Given the description of an element on the screen output the (x, y) to click on. 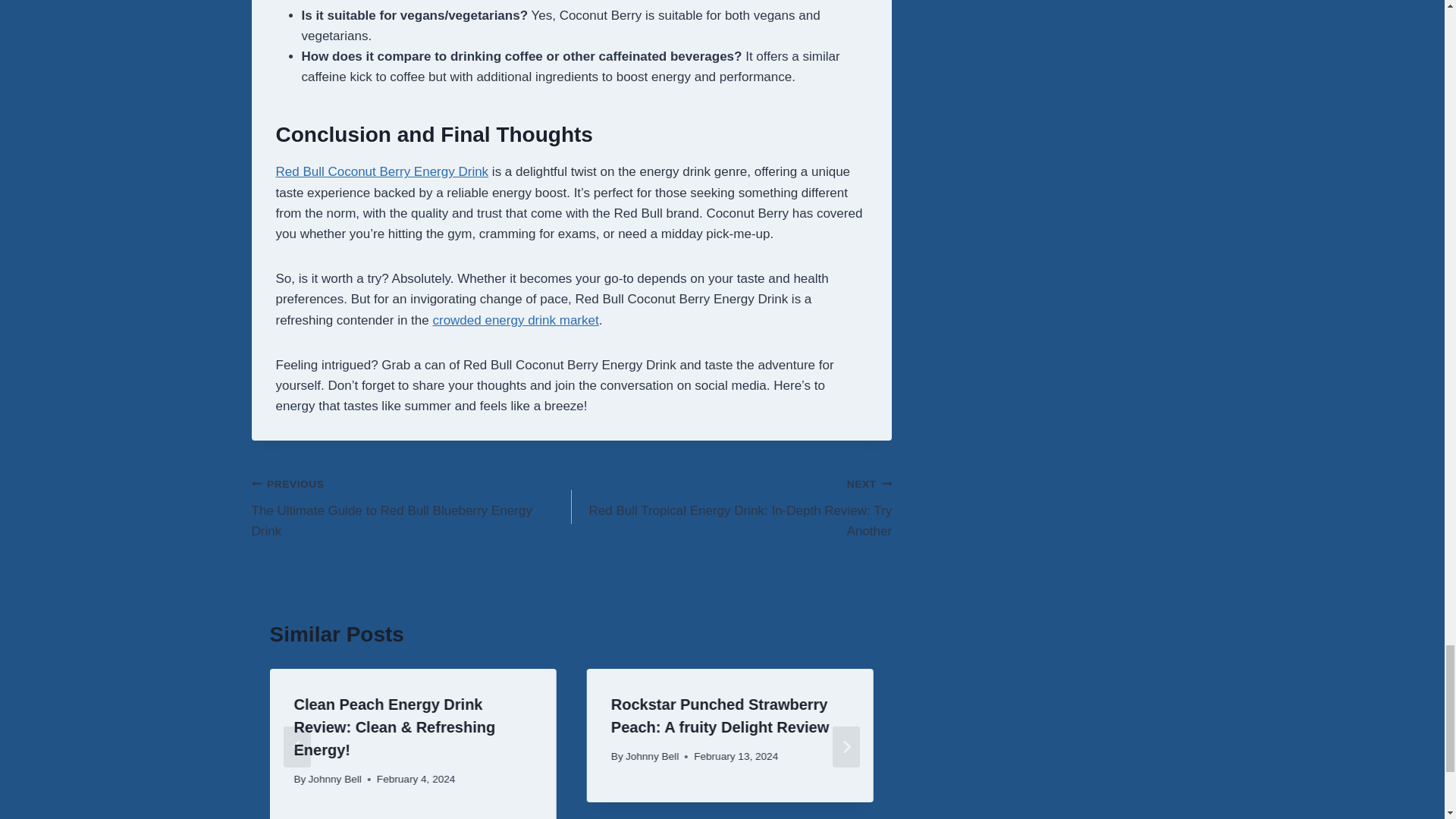
Red Bull Coconut Berry Energy Drink (382, 171)
crowded energy drink market (515, 319)
